Given the description of an element on the screen output the (x, y) to click on. 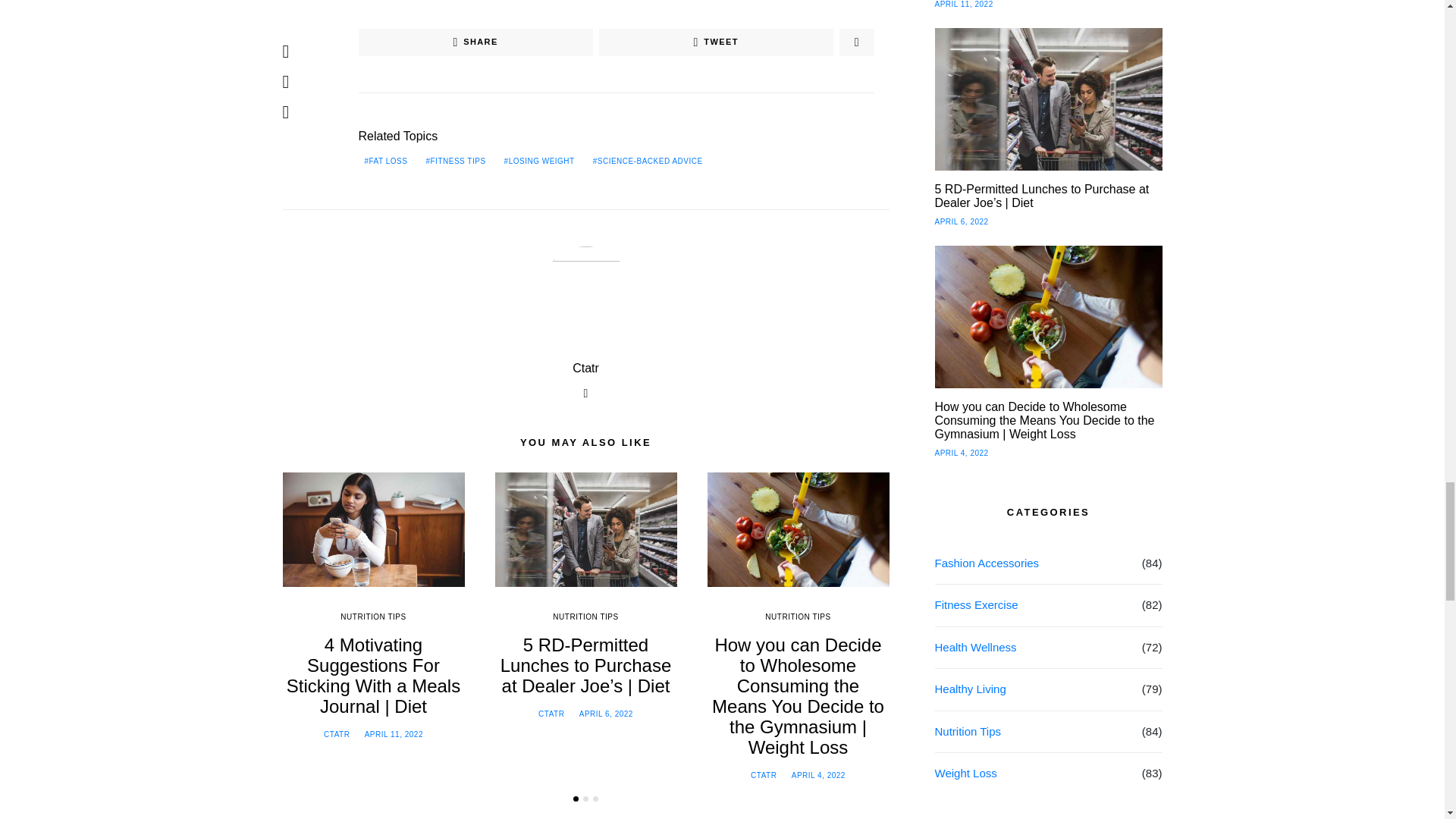
View all posts by Ctatr (763, 775)
View all posts by Ctatr (551, 714)
View all posts by Ctatr (336, 734)
